Given the description of an element on the screen output the (x, y) to click on. 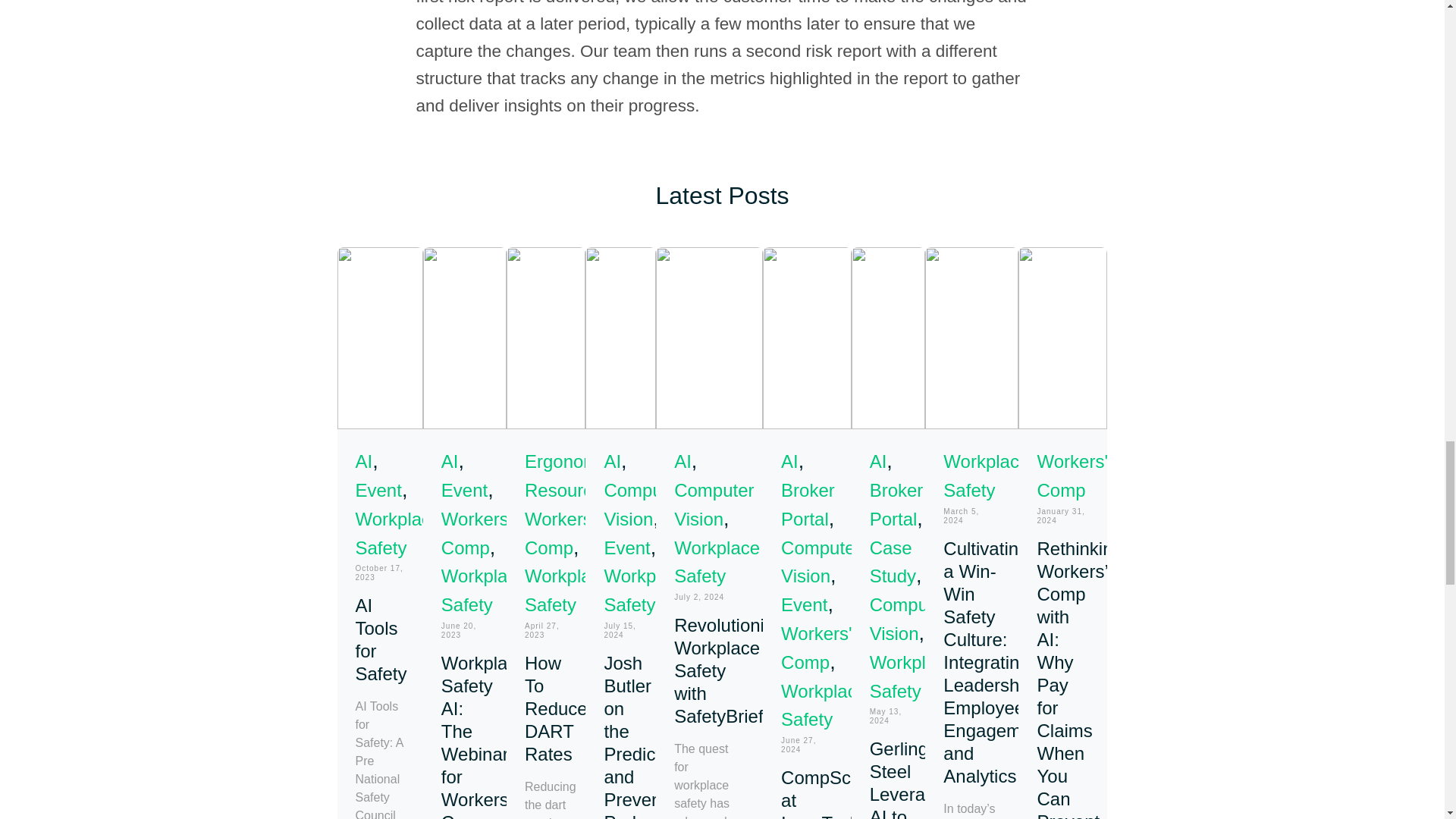
Event (626, 547)
Workers' Comp (476, 532)
Workplace Safety (646, 590)
Workers' Comp (476, 532)
Event (464, 489)
Resources (567, 489)
Ergonomics (572, 461)
Event (464, 489)
Workplace Safety (484, 590)
Workplace Safety (567, 590)
